Given the description of an element on the screen output the (x, y) to click on. 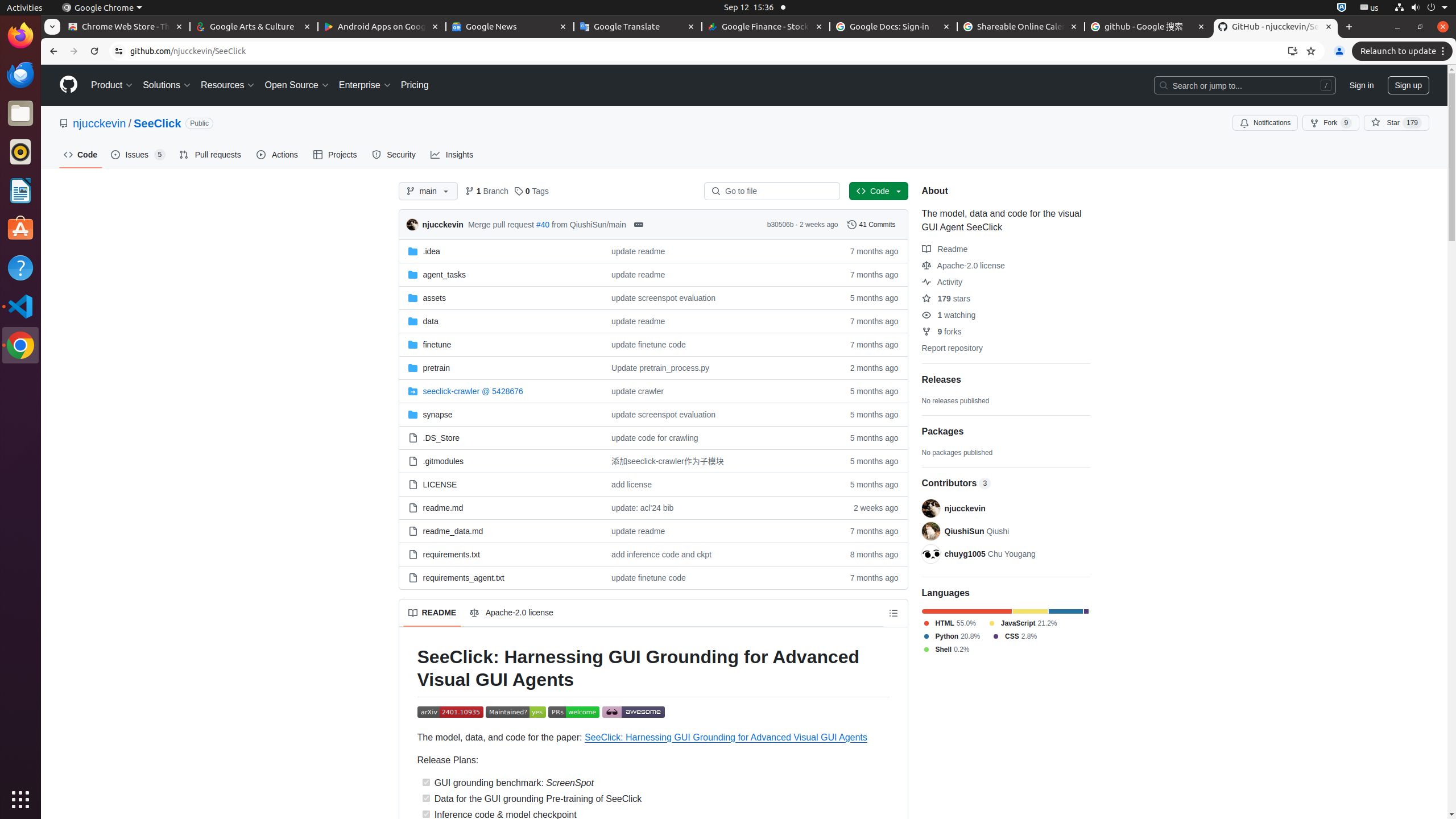
Android Apps on Google Play - Memory usage - 52.2 MB Element type: page-tab (381, 26)
Fork 9 Element type: link (1330, 122)
You Element type: push-button (1339, 50)
synapse, (Directory) Element type: link (437, 414)
github - Google 搜索 - Memory usage - 71.9 MB Element type: page-tab (1148, 26)
